Given the description of an element on the screen output the (x, y) to click on. 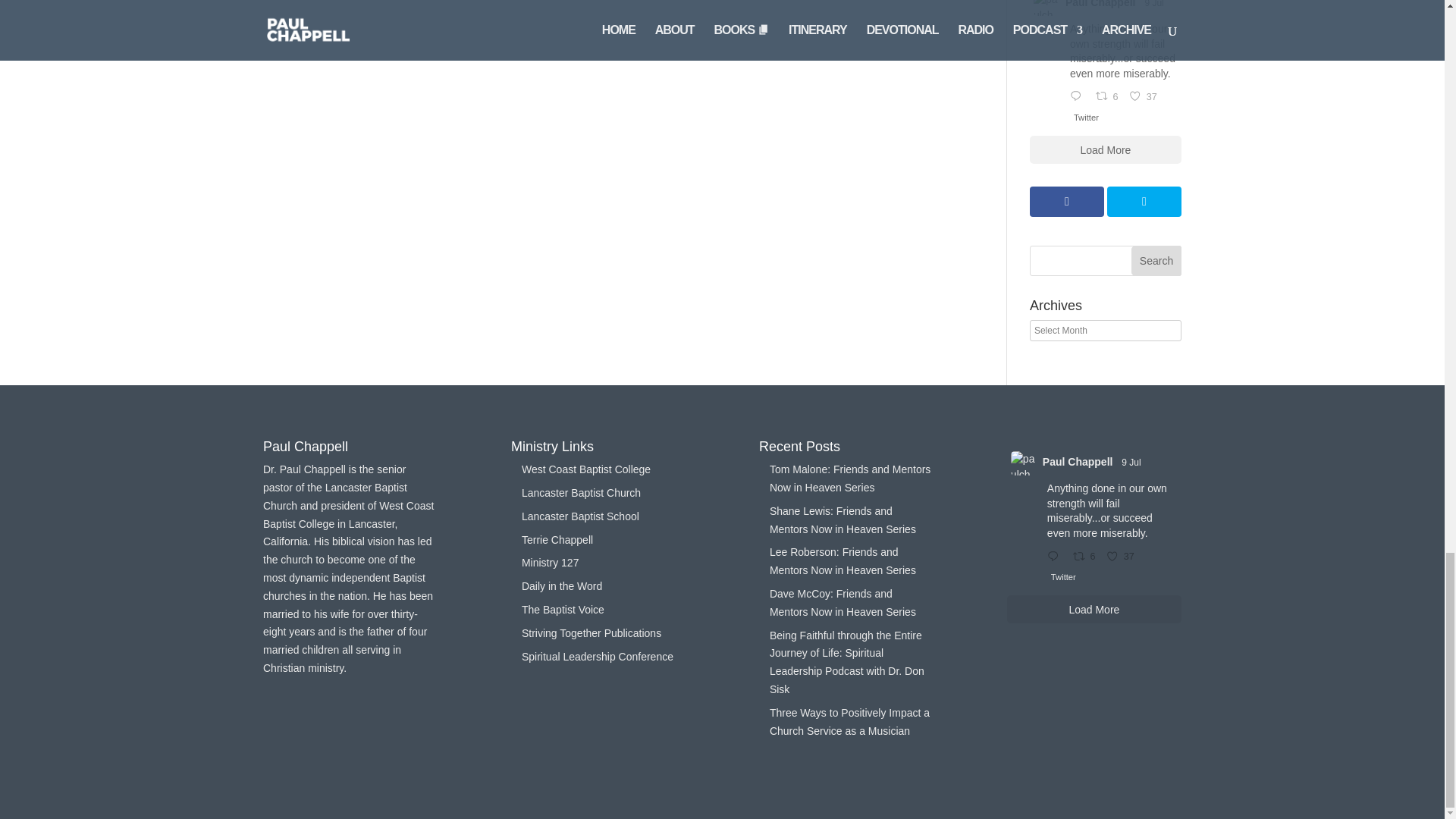
Paul Chappell (1100, 5)
Search (1155, 260)
